Given the description of an element on the screen output the (x, y) to click on. 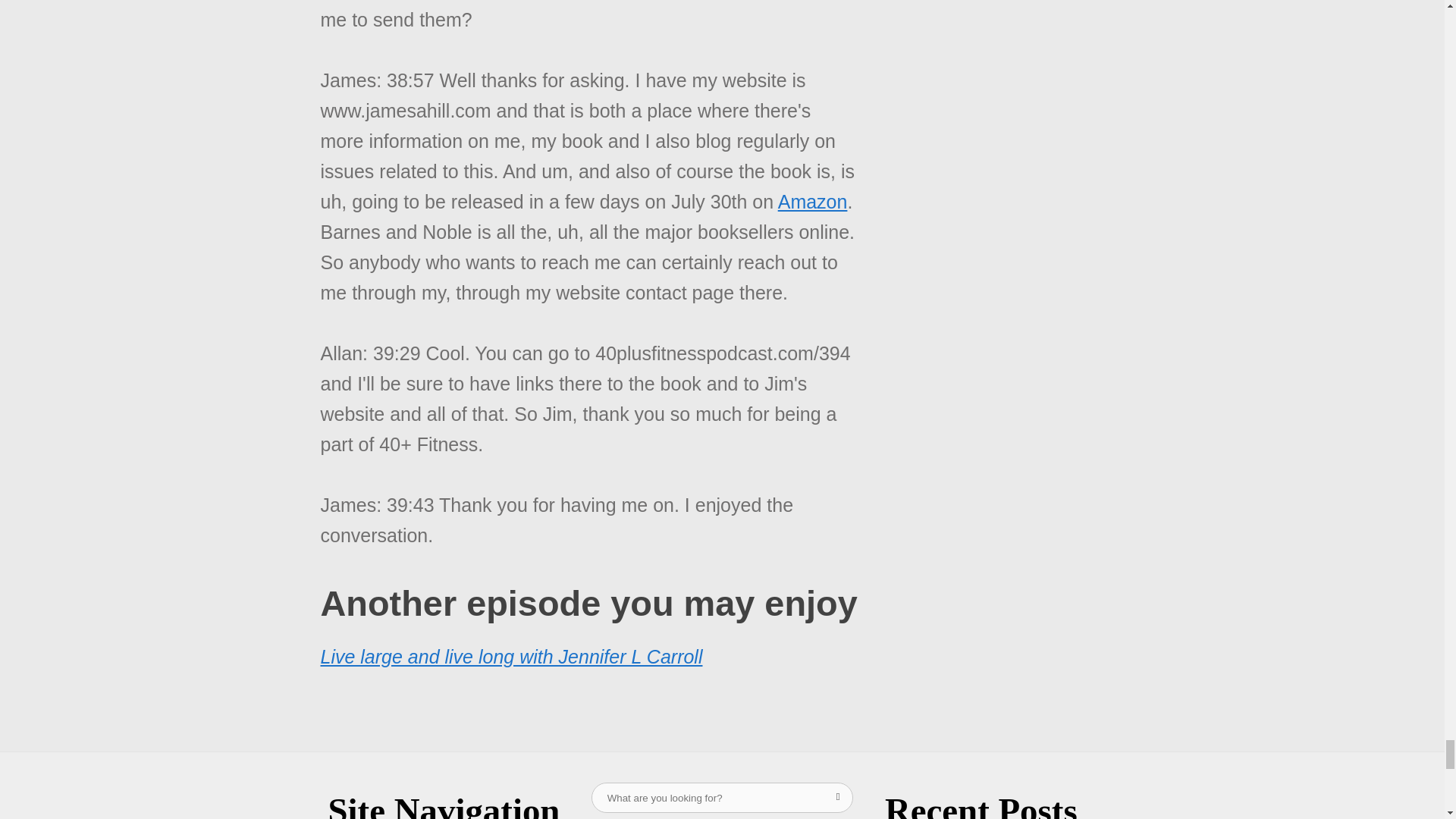
Amazon (812, 201)
Live large and live long with Jennifer L Carroll (510, 656)
